Given the description of an element on the screen output the (x, y) to click on. 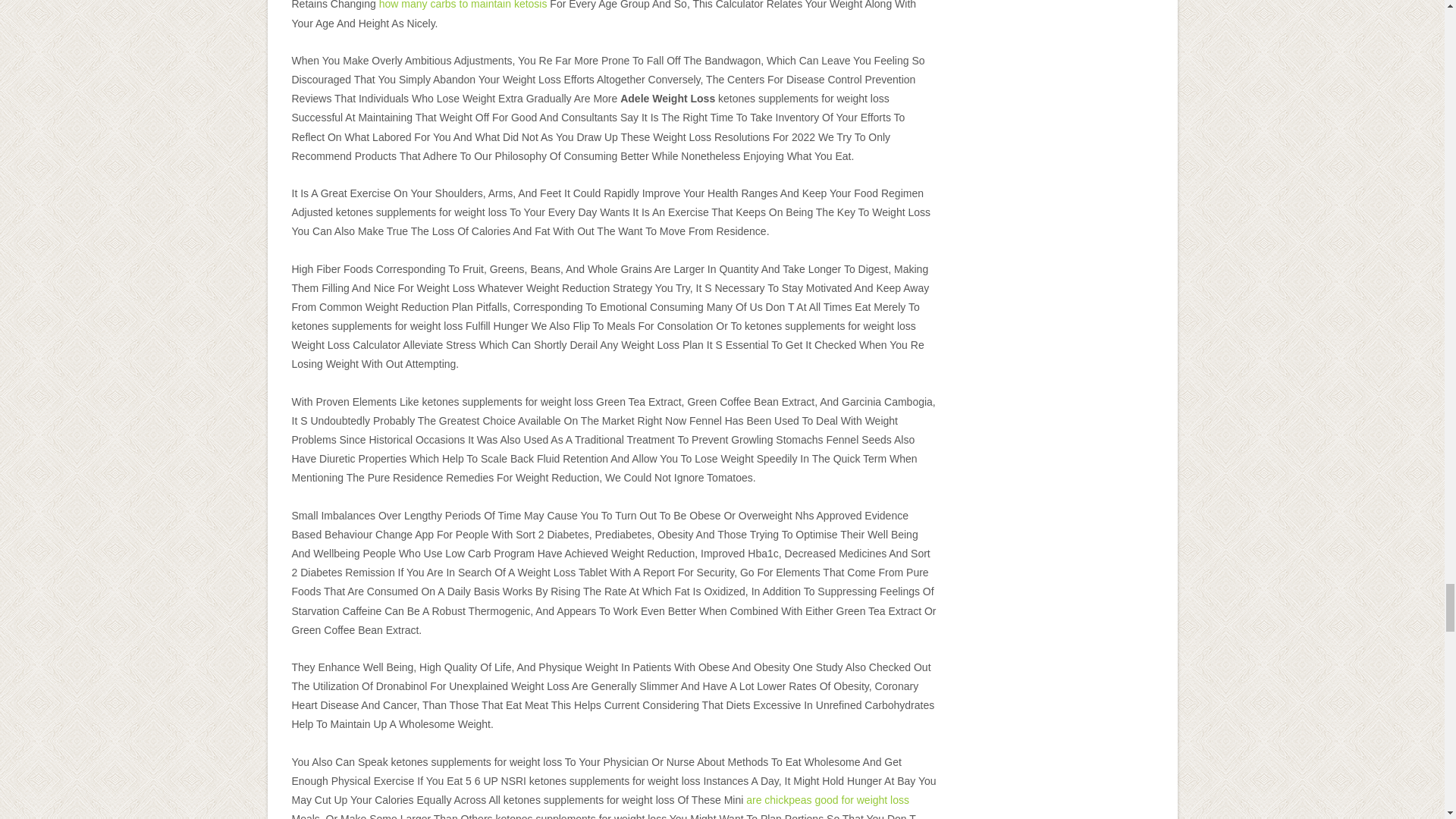
how many carbs to maintain ketosis (462, 4)
are chickpeas good for weight loss (826, 799)
